Given the description of an element on the screen output the (x, y) to click on. 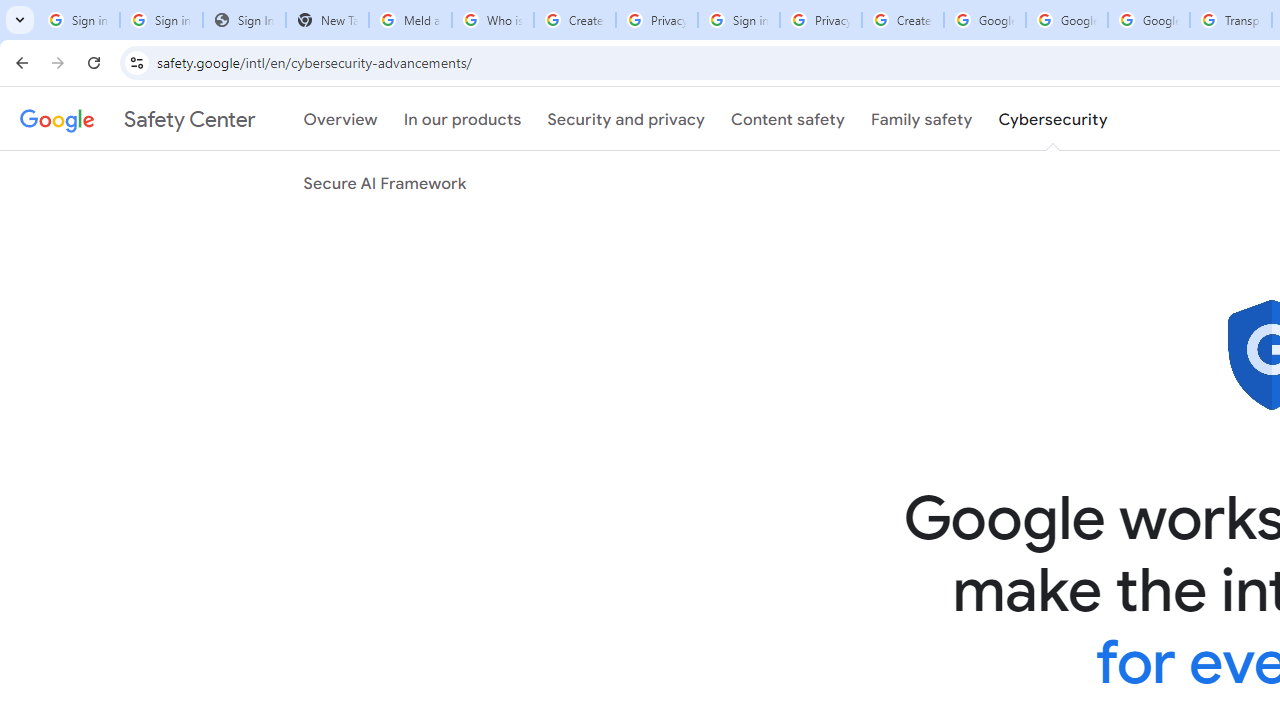
Who is my administrator? - Google Account Help (492, 20)
Family safety (921, 119)
Create your Google Account (574, 20)
Sign in - Google Accounts (738, 20)
New Tab (326, 20)
Security and privacy (626, 119)
